Given the description of an element on the screen output the (x, y) to click on. 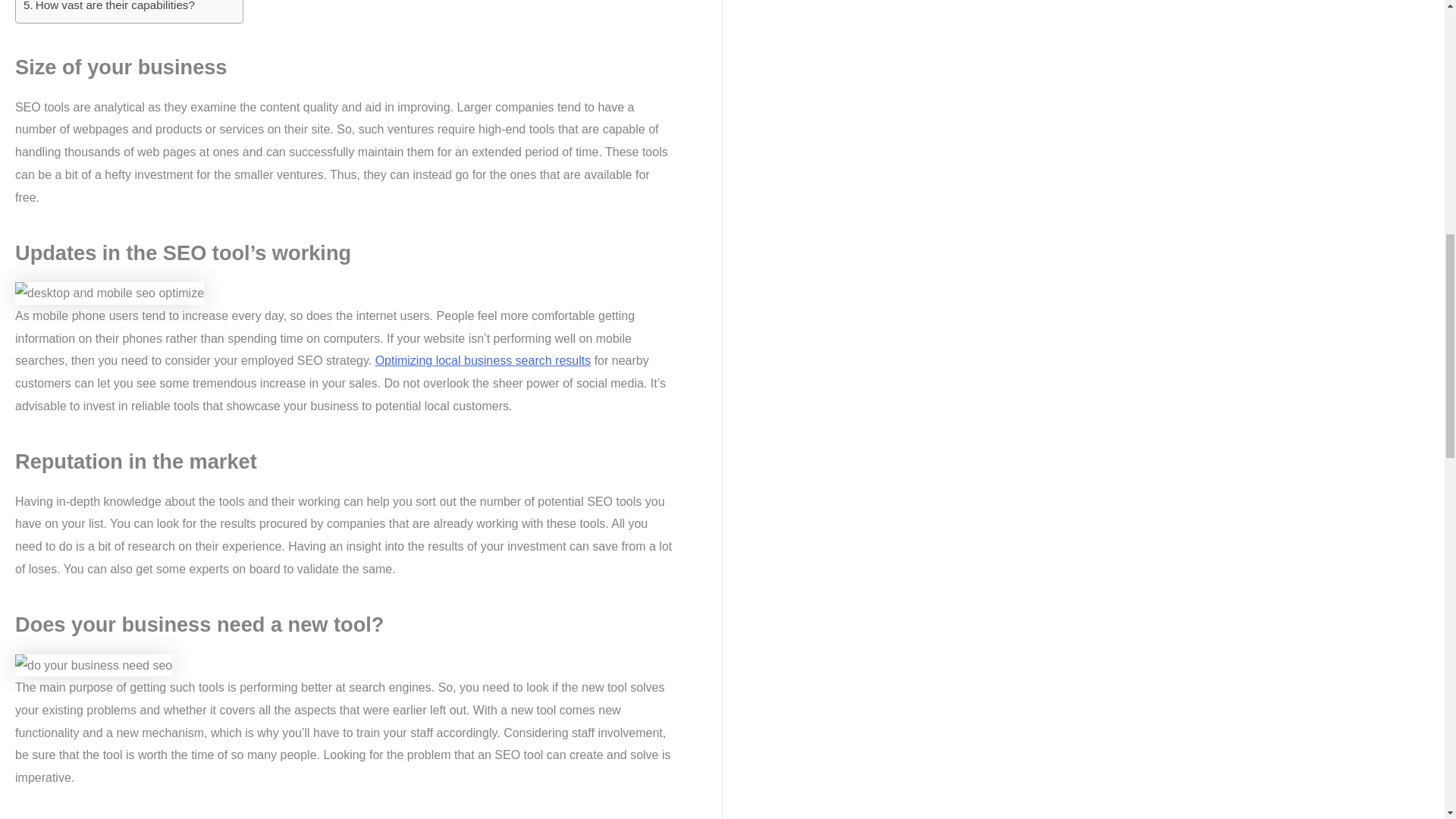
How vast are their capabilities? (109, 7)
How vast are their capabilities? (109, 7)
Optimizing local business search results (483, 359)
